Given the description of an element on the screen output the (x, y) to click on. 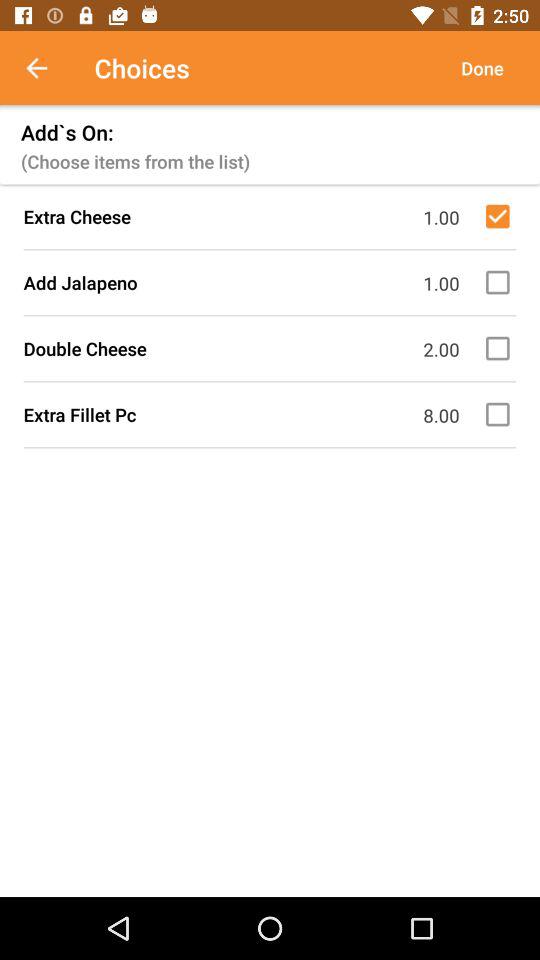
open item to the left of the choices icon (47, 68)
